Given the description of an element on the screen output the (x, y) to click on. 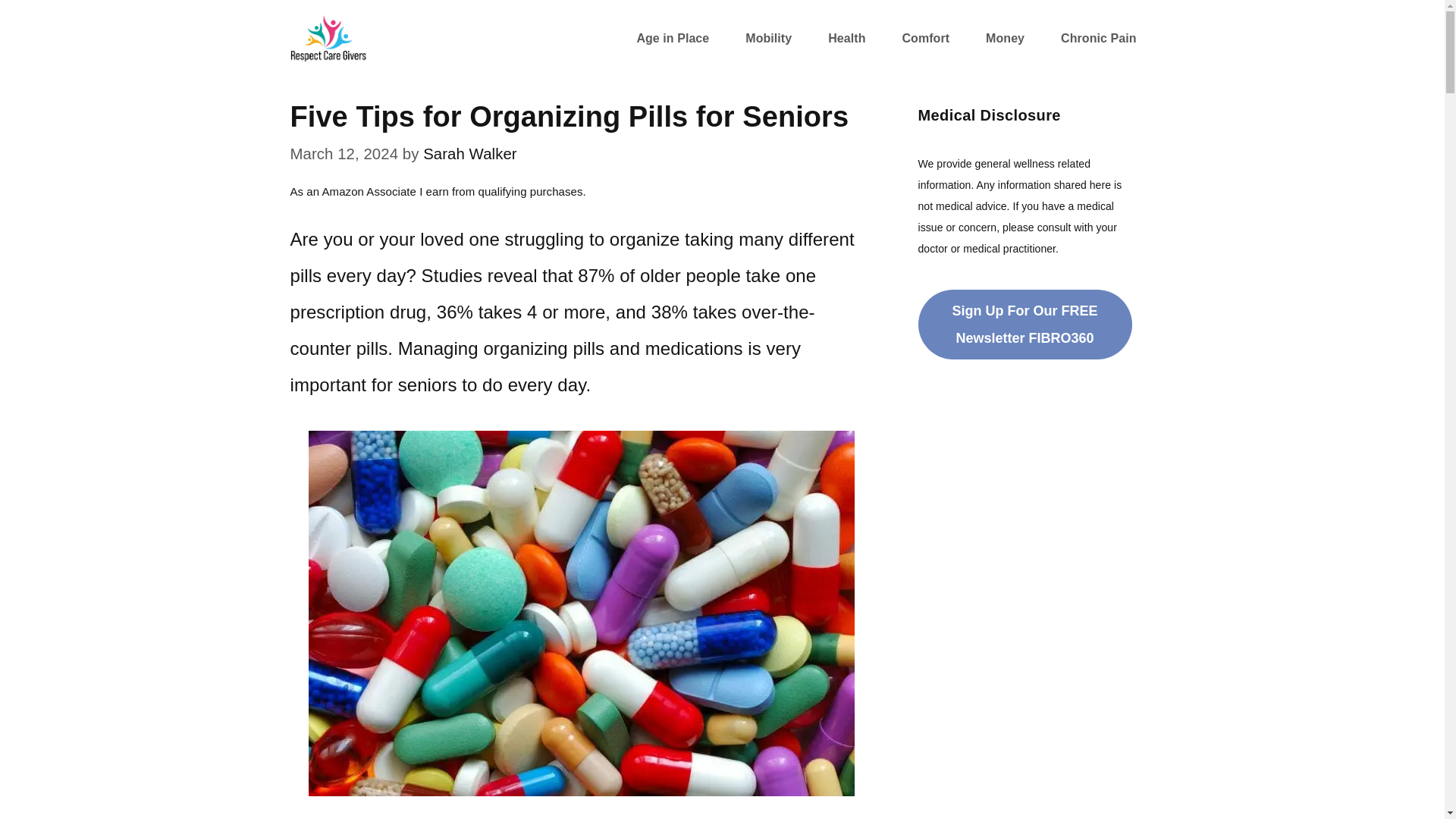
Health (846, 38)
Age in Place (671, 38)
Money (1005, 38)
View all posts by Sarah Walker (469, 153)
Sarah Walker (469, 153)
Mobility (767, 38)
Chronic Pain (1098, 38)
Comfort (925, 38)
